Given the description of an element on the screen output the (x, y) to click on. 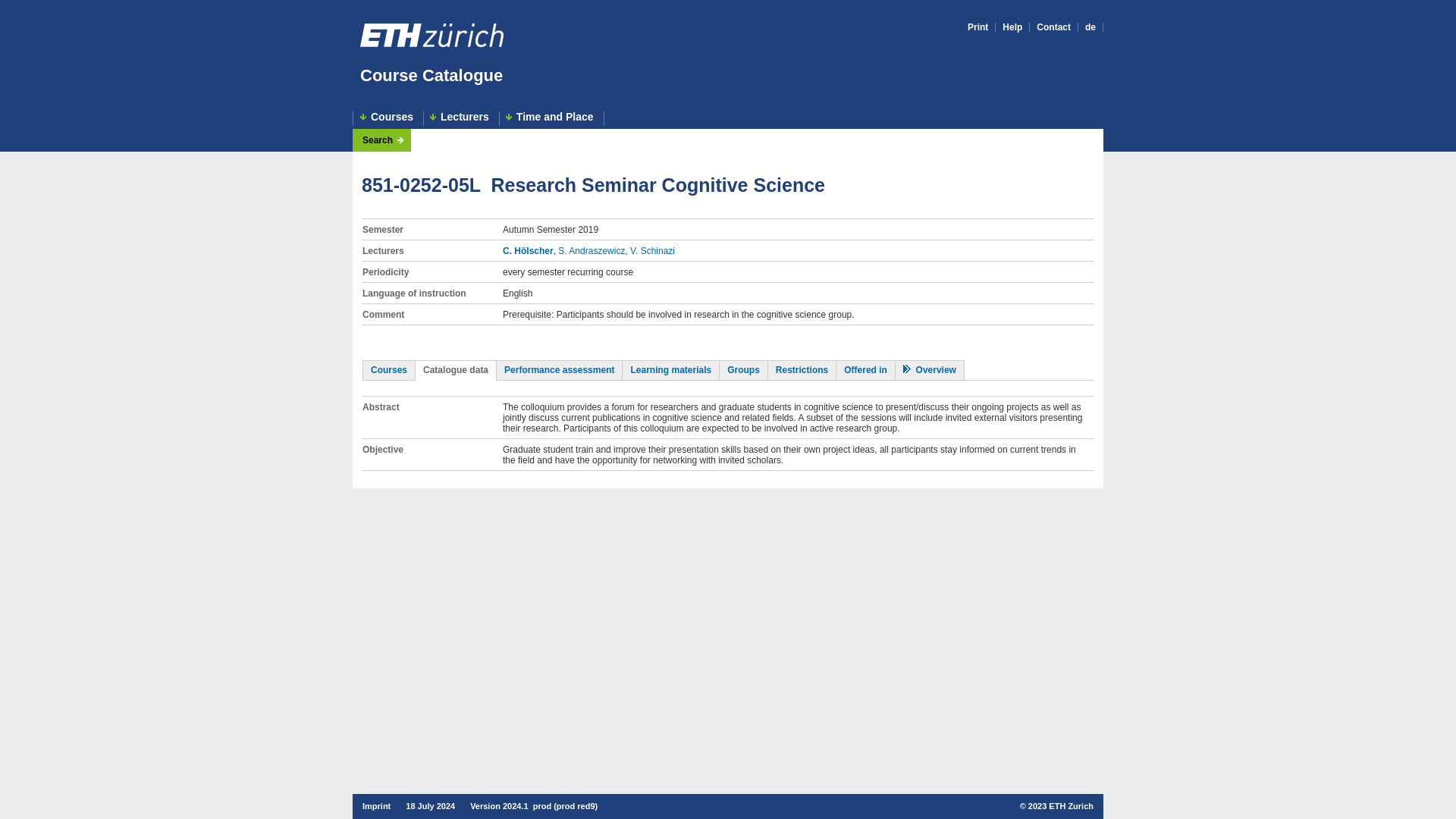
Lecturers (461, 118)
Groups (743, 369)
V. Schinazi (652, 250)
Time and Place (551, 118)
Courses (389, 369)
Print (978, 26)
Help (1012, 26)
2023 ETH Zurich (1060, 805)
Imprint (376, 805)
Courses (387, 118)
Learning materials (670, 369)
Offered in (865, 369)
Course Catalogue (430, 75)
Search (383, 139)
  Overview (929, 369)
